Given the description of an element on the screen output the (x, y) to click on. 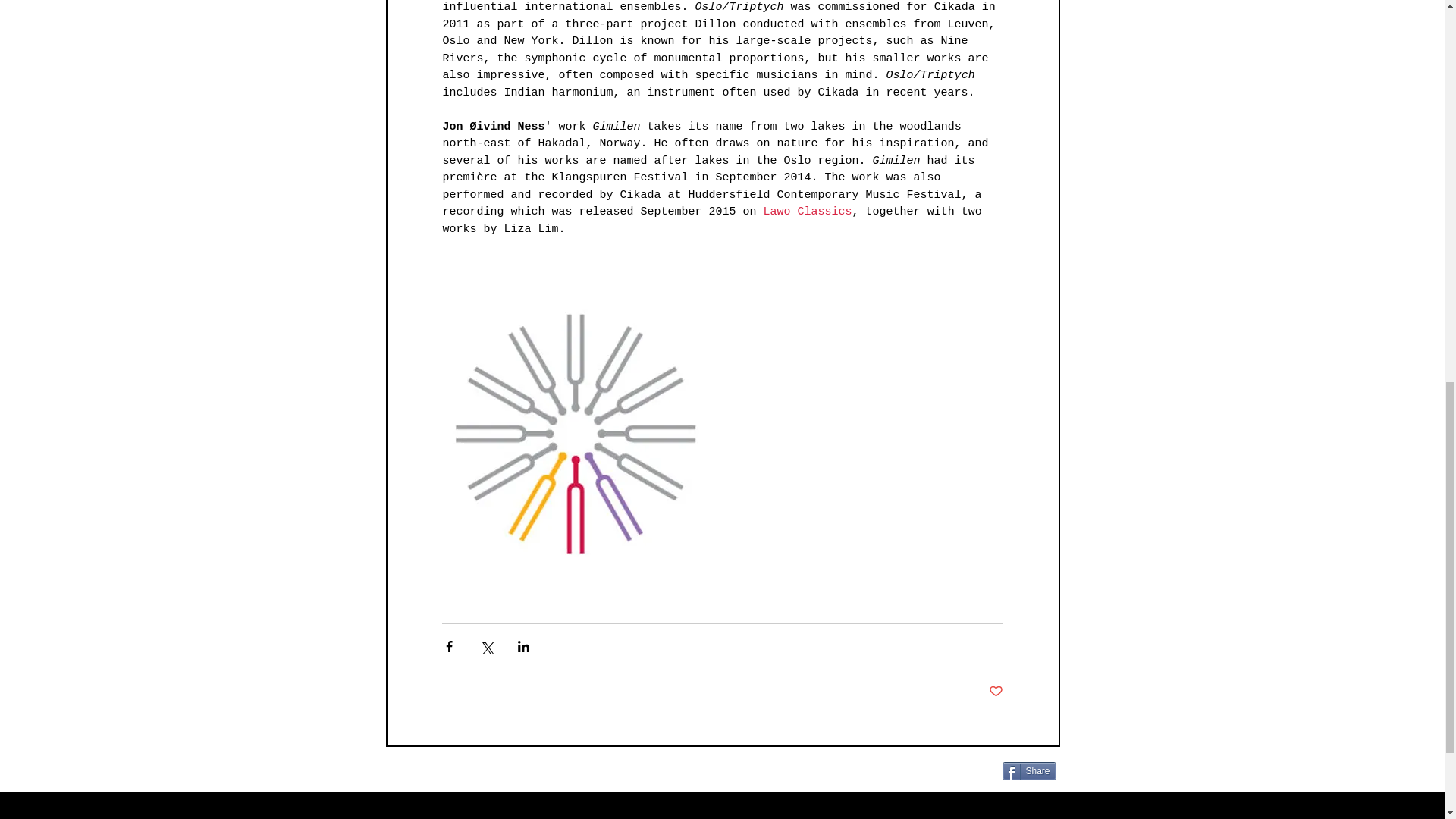
Share (1030, 770)
Lawo Classics (806, 211)
Share (1030, 770)
Post not marked as liked (995, 691)
Facebook Like (825, 776)
